Given the description of an element on the screen output the (x, y) to click on. 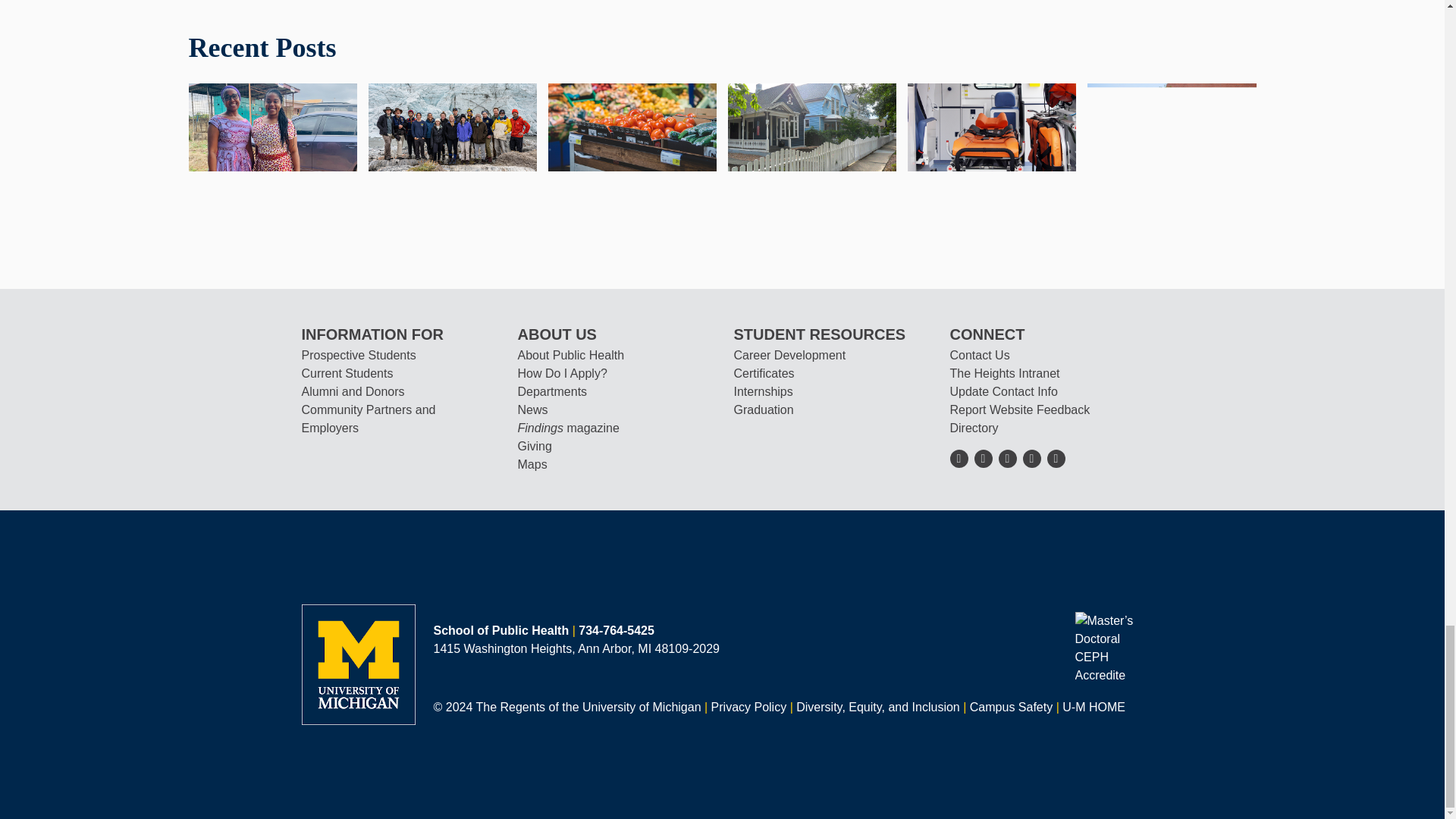
Naloxone: Wide Distribution Effective in Preventing Deaths (991, 125)
Making a Difference Around the World (452, 125)
